Given the description of an element on the screen output the (x, y) to click on. 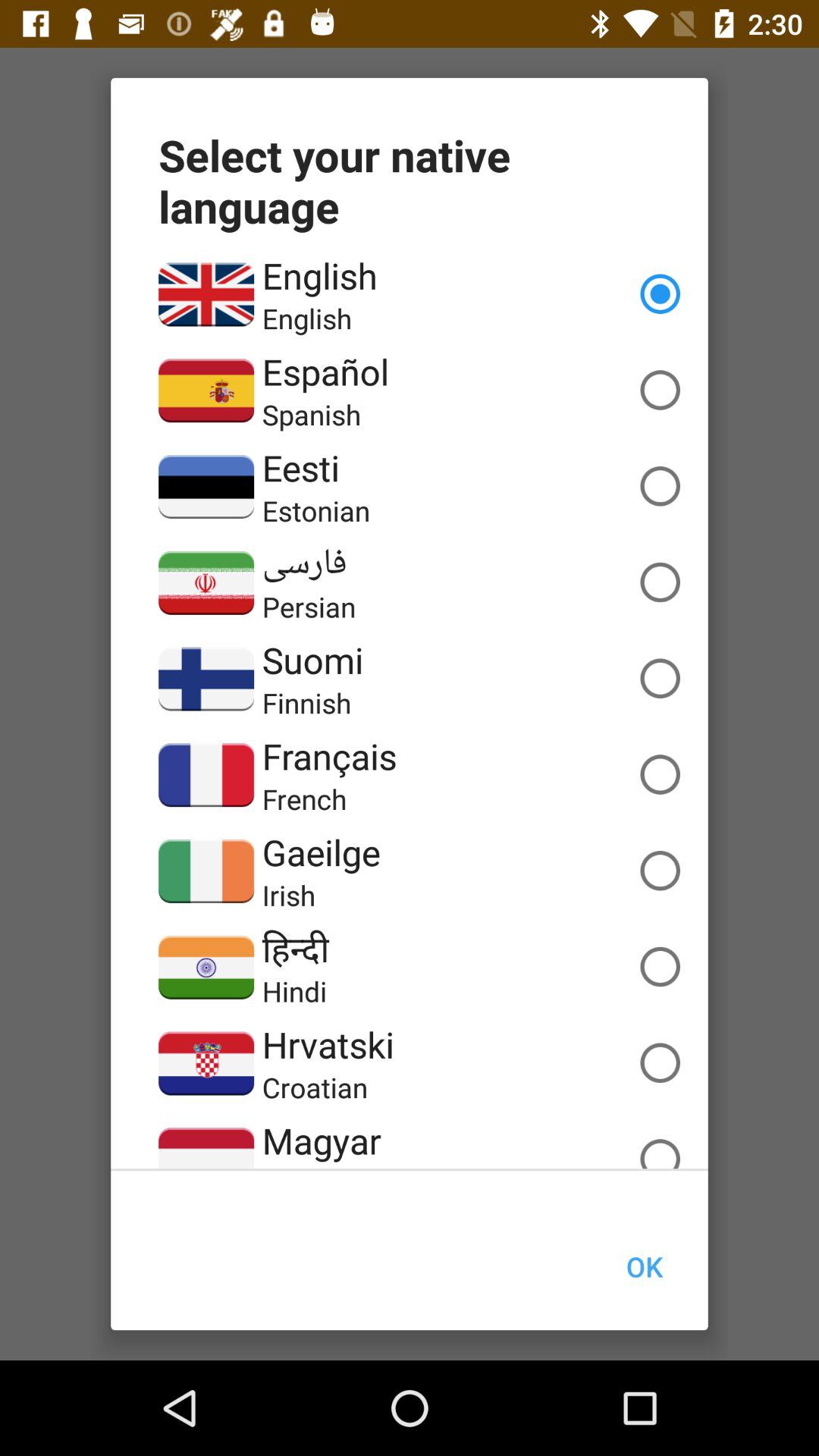
scroll to the finnish app (306, 702)
